Given the description of an element on the screen output the (x, y) to click on. 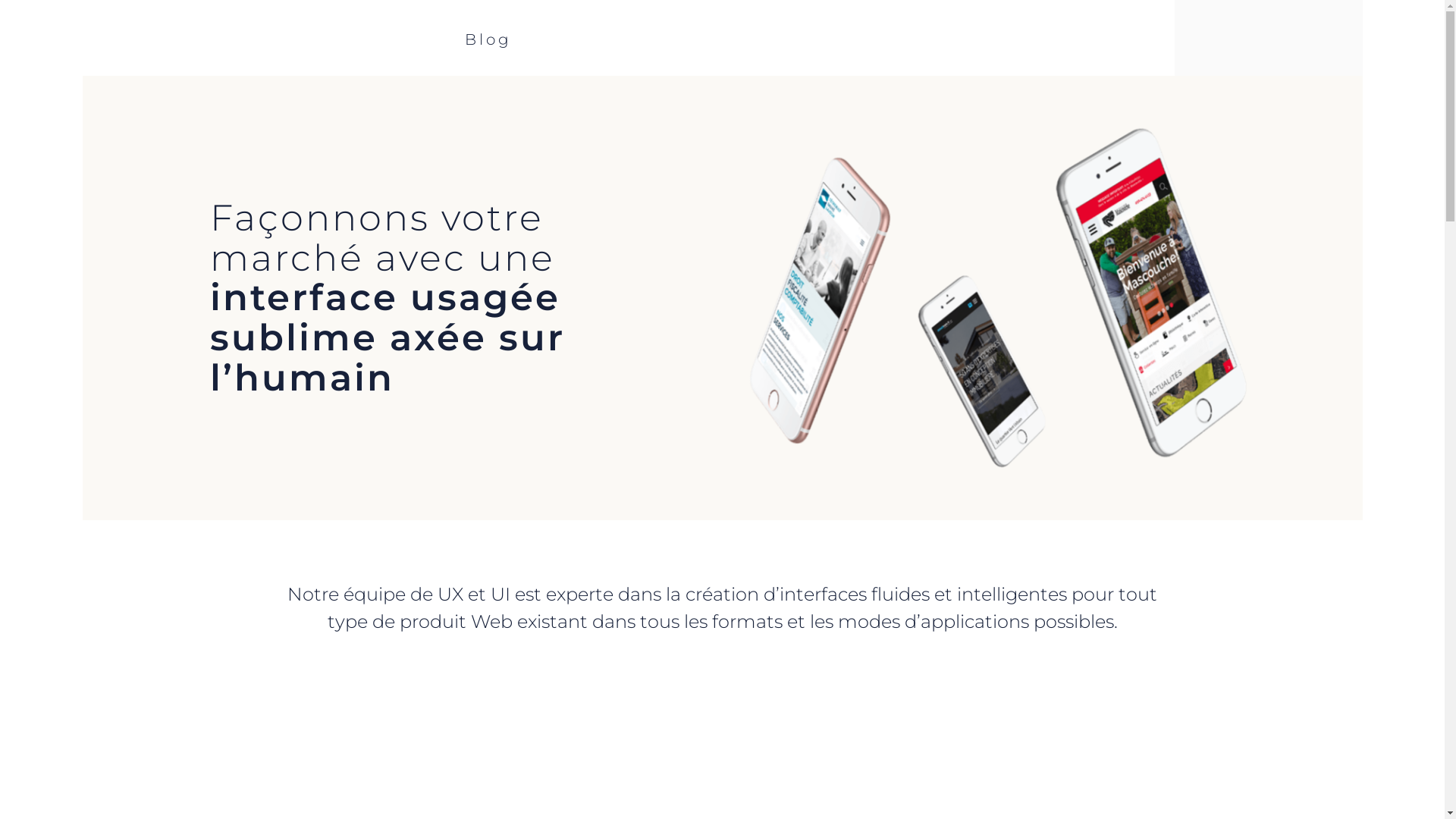
Blog Element type: text (487, 37)
